Given the description of an element on the screen output the (x, y) to click on. 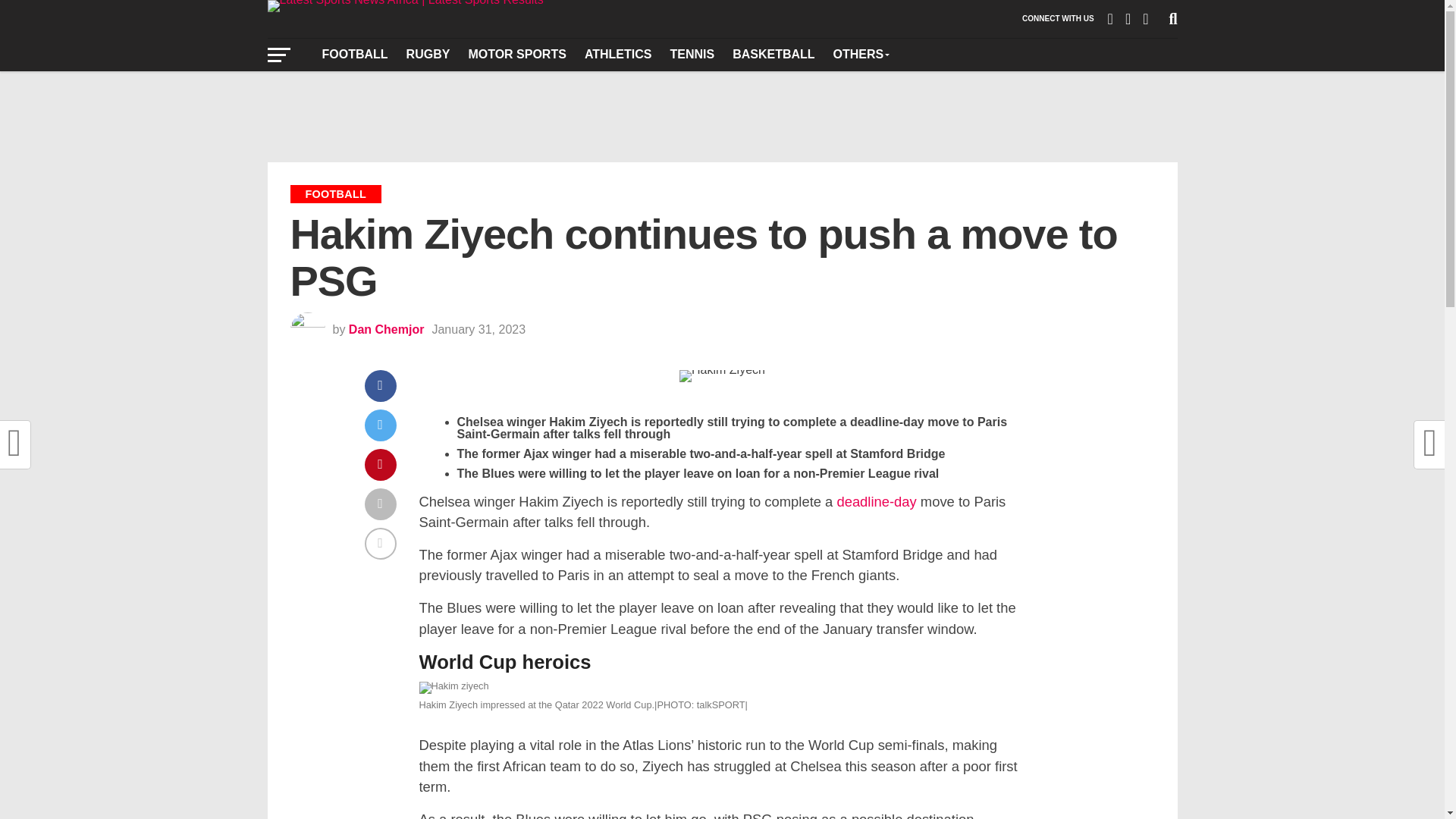
OTHERS (861, 54)
Dan Chemjor (387, 328)
FOOTBALL (354, 54)
BASKETBALL (773, 54)
ATHLETICS (618, 54)
RUGBY (428, 54)
MOTOR SPORTS (516, 54)
Posts by Dan Chemjor (387, 328)
TENNIS (692, 54)
